Given the description of an element on the screen output the (x, y) to click on. 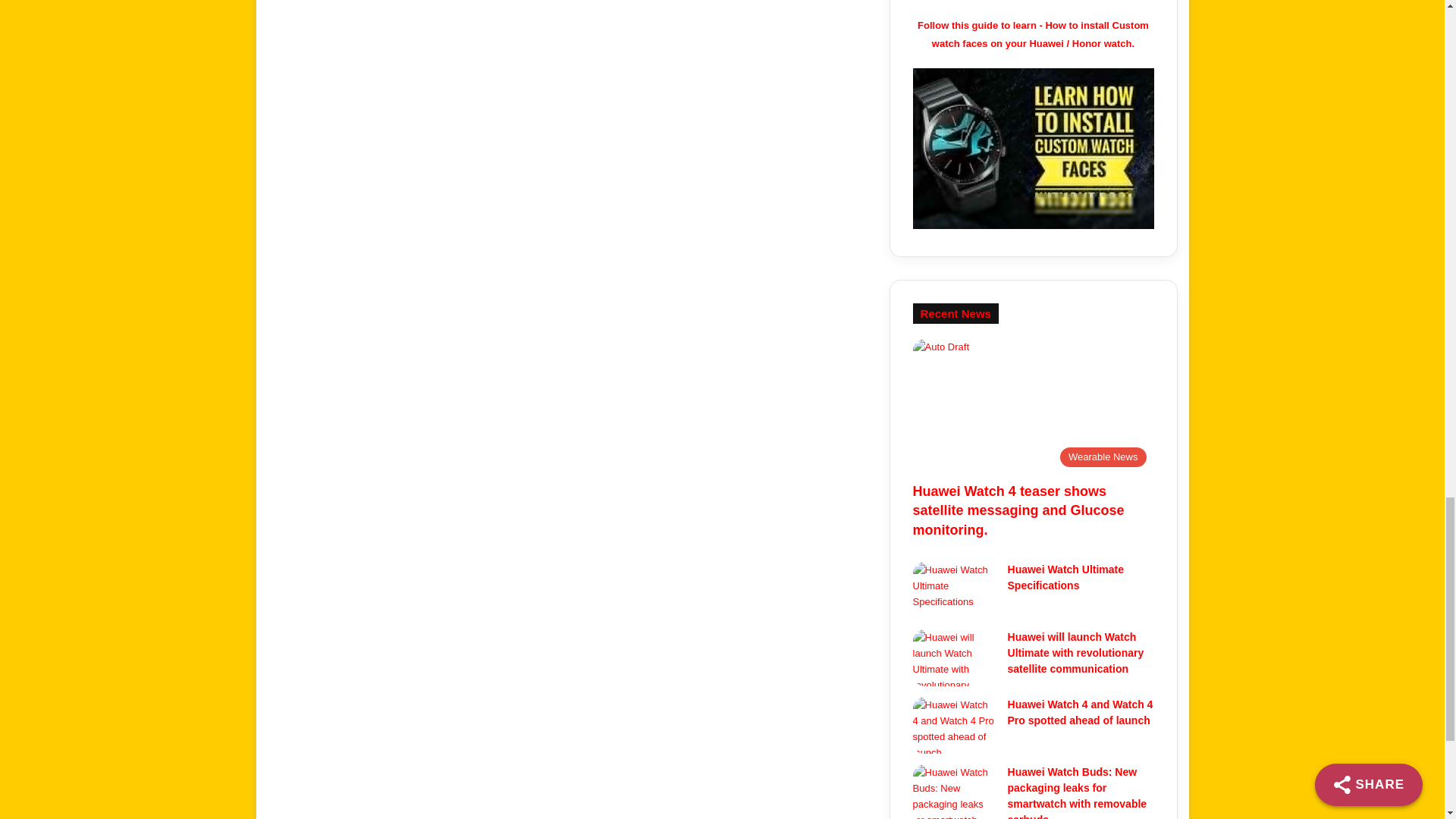
Wearable News (1033, 407)
